Given the description of an element on the screen output the (x, y) to click on. 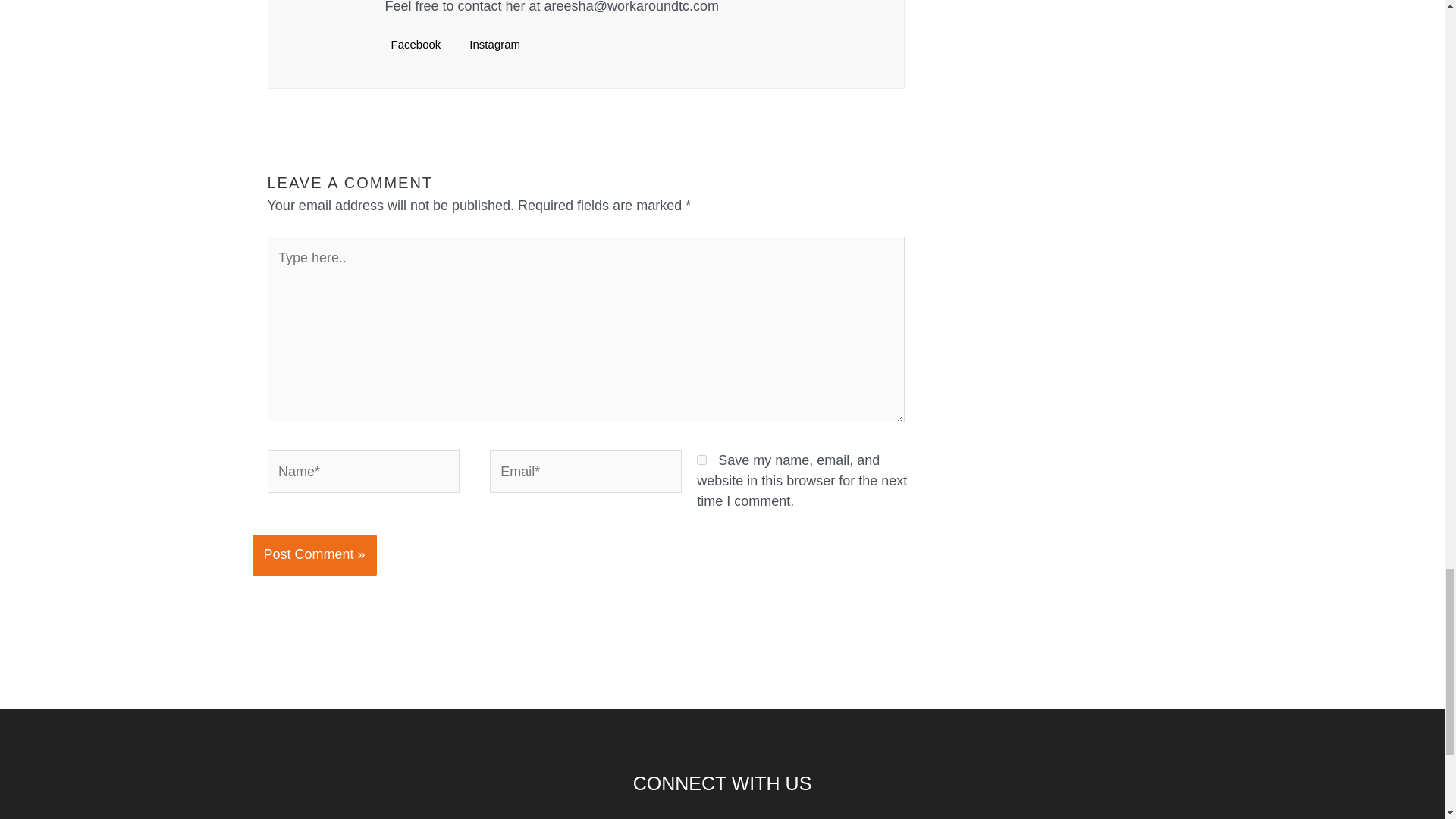
yes (701, 460)
